Given the description of an element on the screen output the (x, y) to click on. 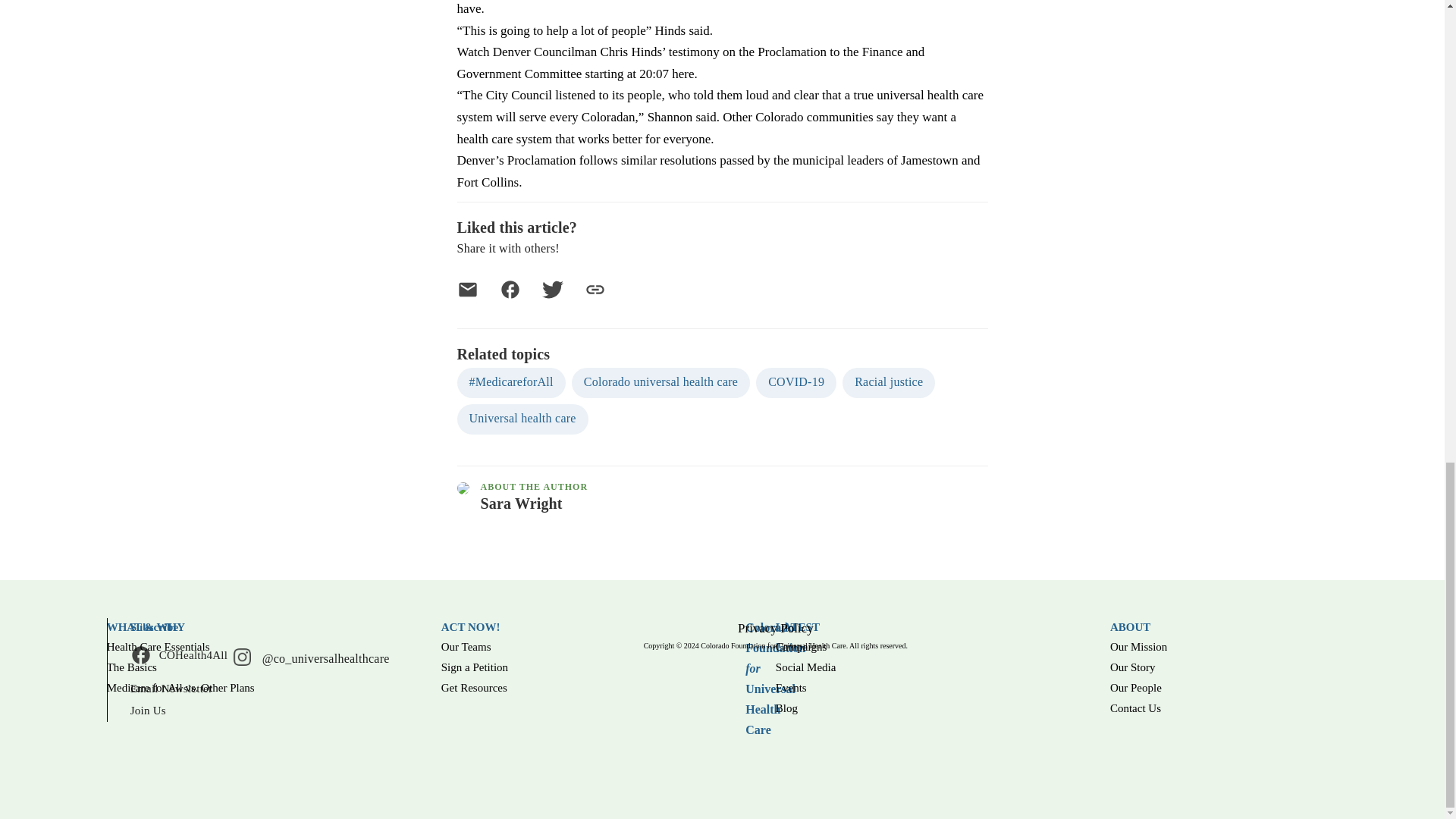
Colorado universal health care (663, 382)
COVID-19 (799, 382)
here. (684, 73)
